Given the description of an element on the screen output the (x, y) to click on. 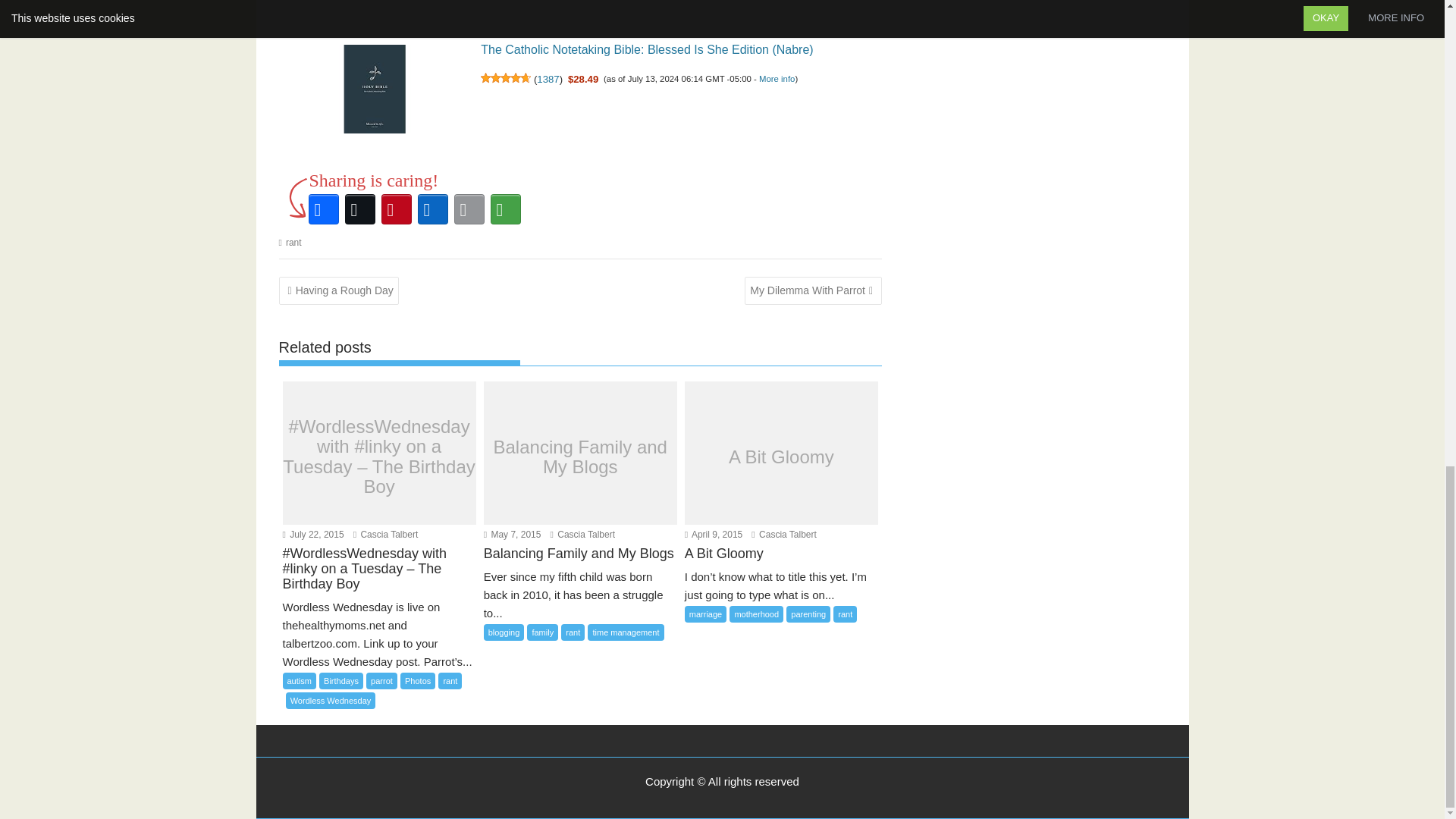
Facebook (322, 208)
